Given the description of an element on the screen output the (x, y) to click on. 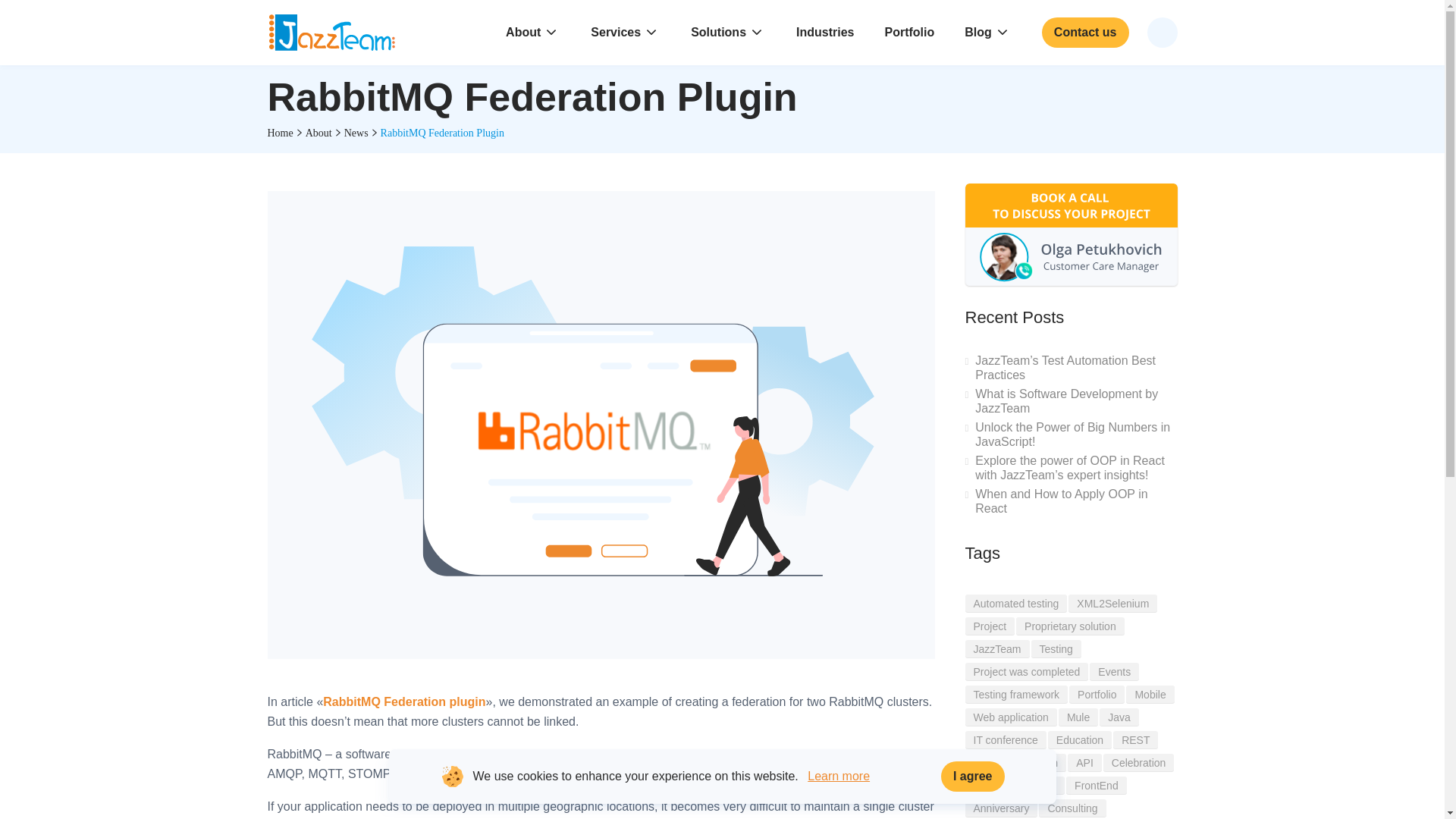
About (532, 32)
Services (625, 32)
